Given the description of an element on the screen output the (x, y) to click on. 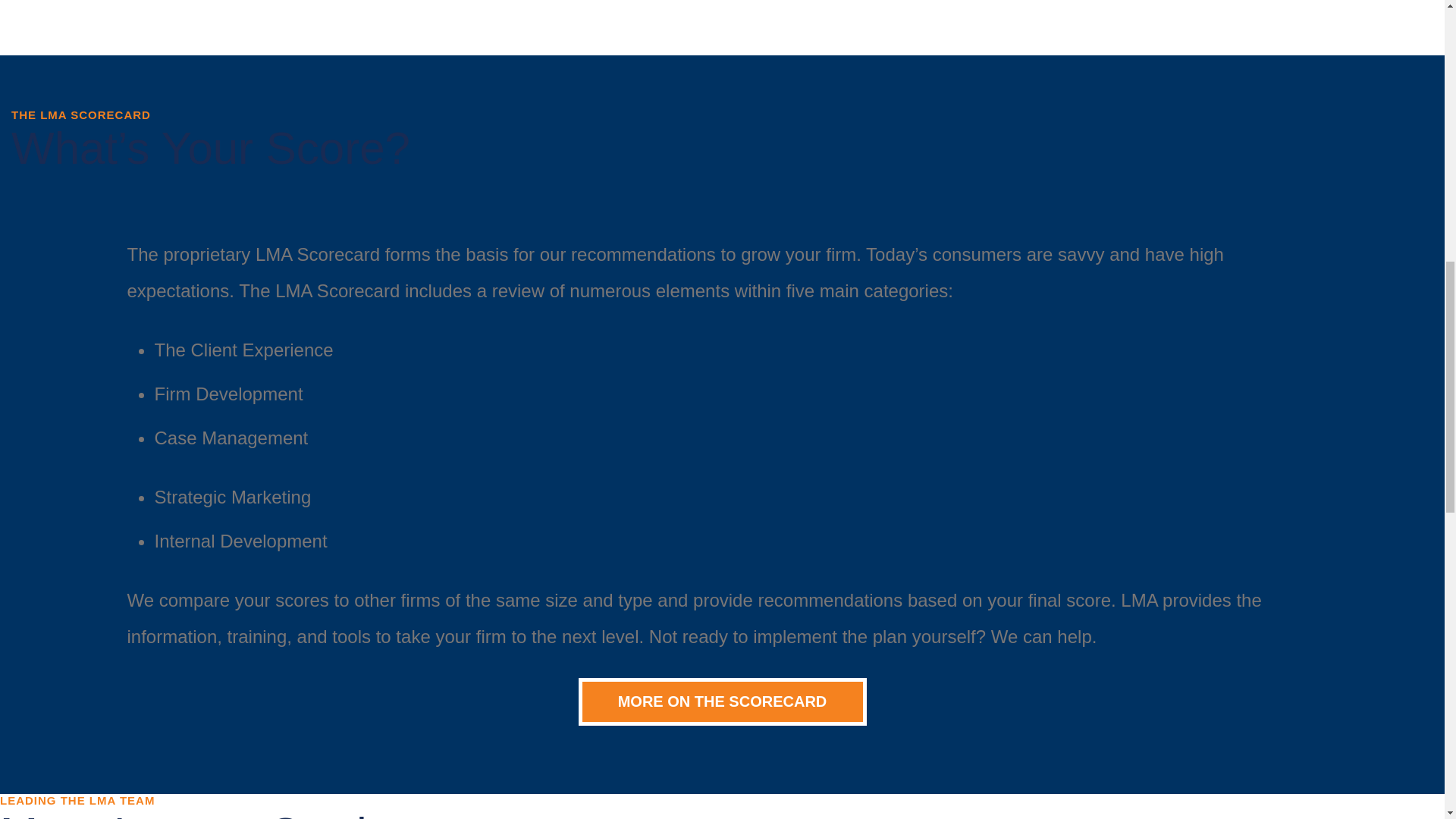
MORE ON THE SCORECARD (722, 701)
